Given the description of an element on the screen output the (x, y) to click on. 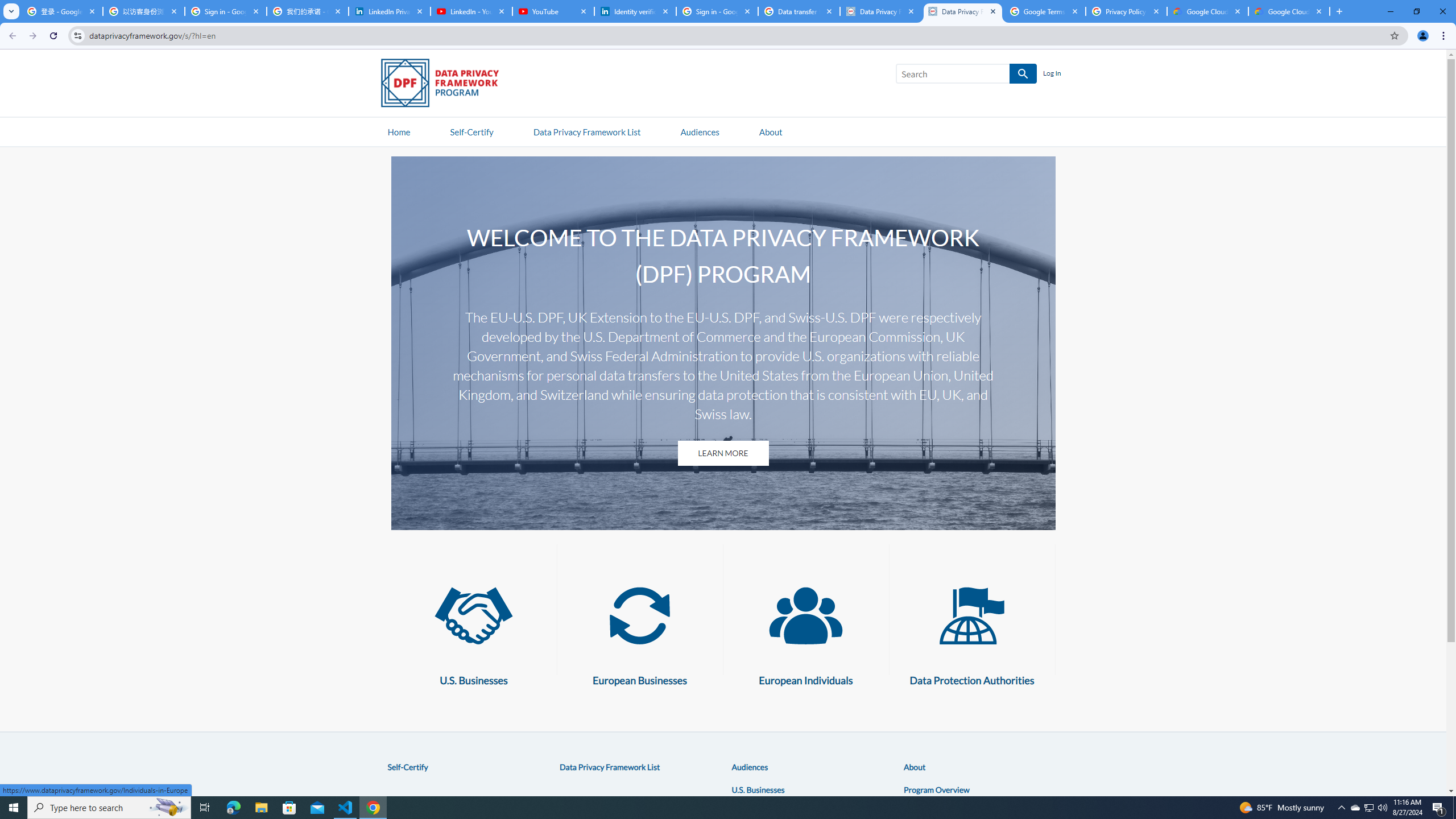
LinkedIn - YouTube (470, 11)
Google Cloud Privacy Notice (1289, 11)
AutomationID: navitem (699, 131)
Data Privacy Framework Logo - Link to Homepage (445, 85)
U.S. Businesses (473, 615)
Data Protection Authorities Data Protection Authorities (971, 630)
Sign in - Google Accounts (225, 11)
Audiences (749, 766)
